Given the description of an element on the screen output the (x, y) to click on. 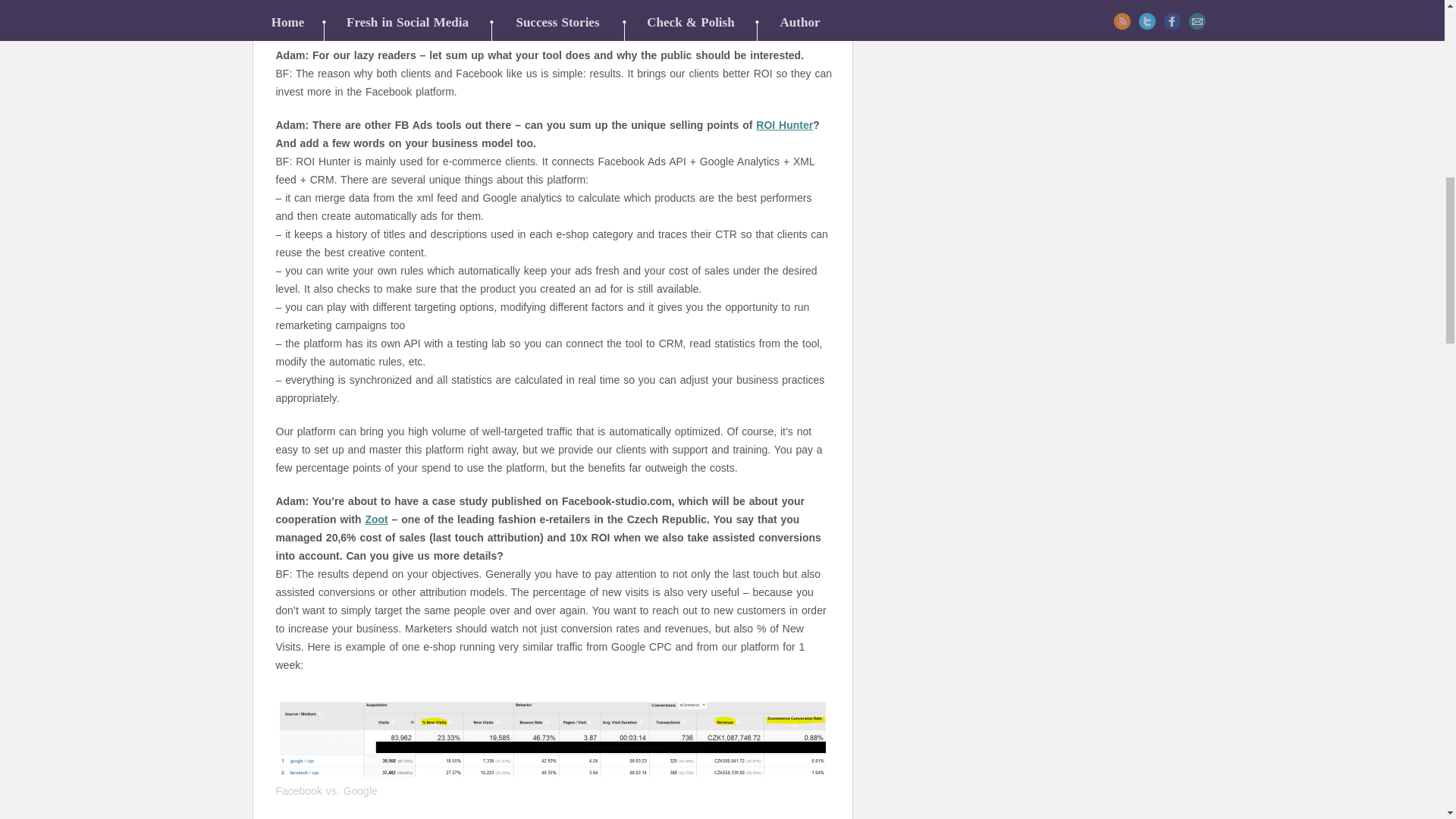
Facebook vs. Google (552, 739)
ROIHunter.com (552, 4)
ROI Hunter (783, 124)
Zoot (376, 519)
